Given the description of an element on the screen output the (x, y) to click on. 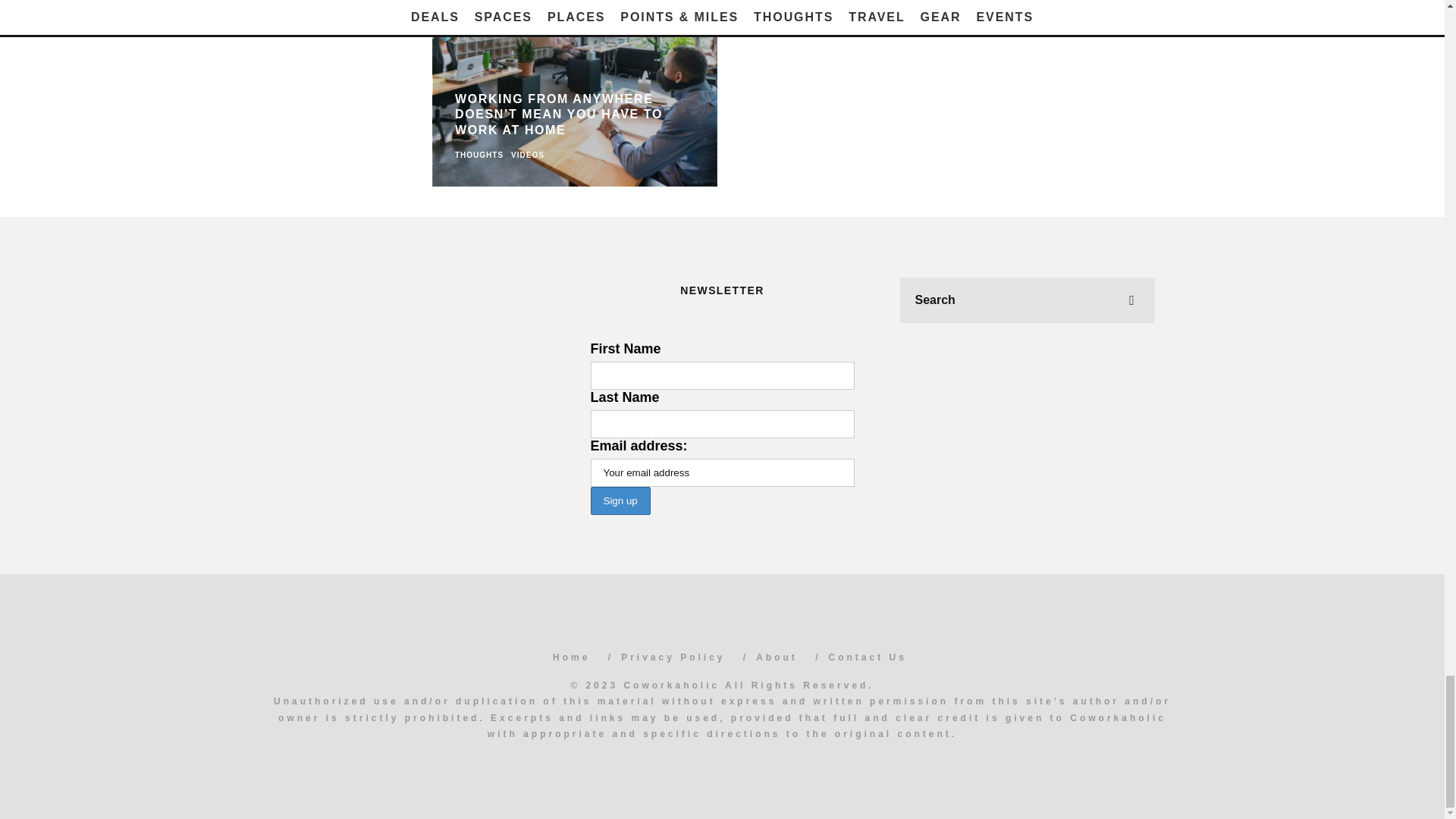
Sign up (619, 500)
